Given the description of an element on the screen output the (x, y) to click on. 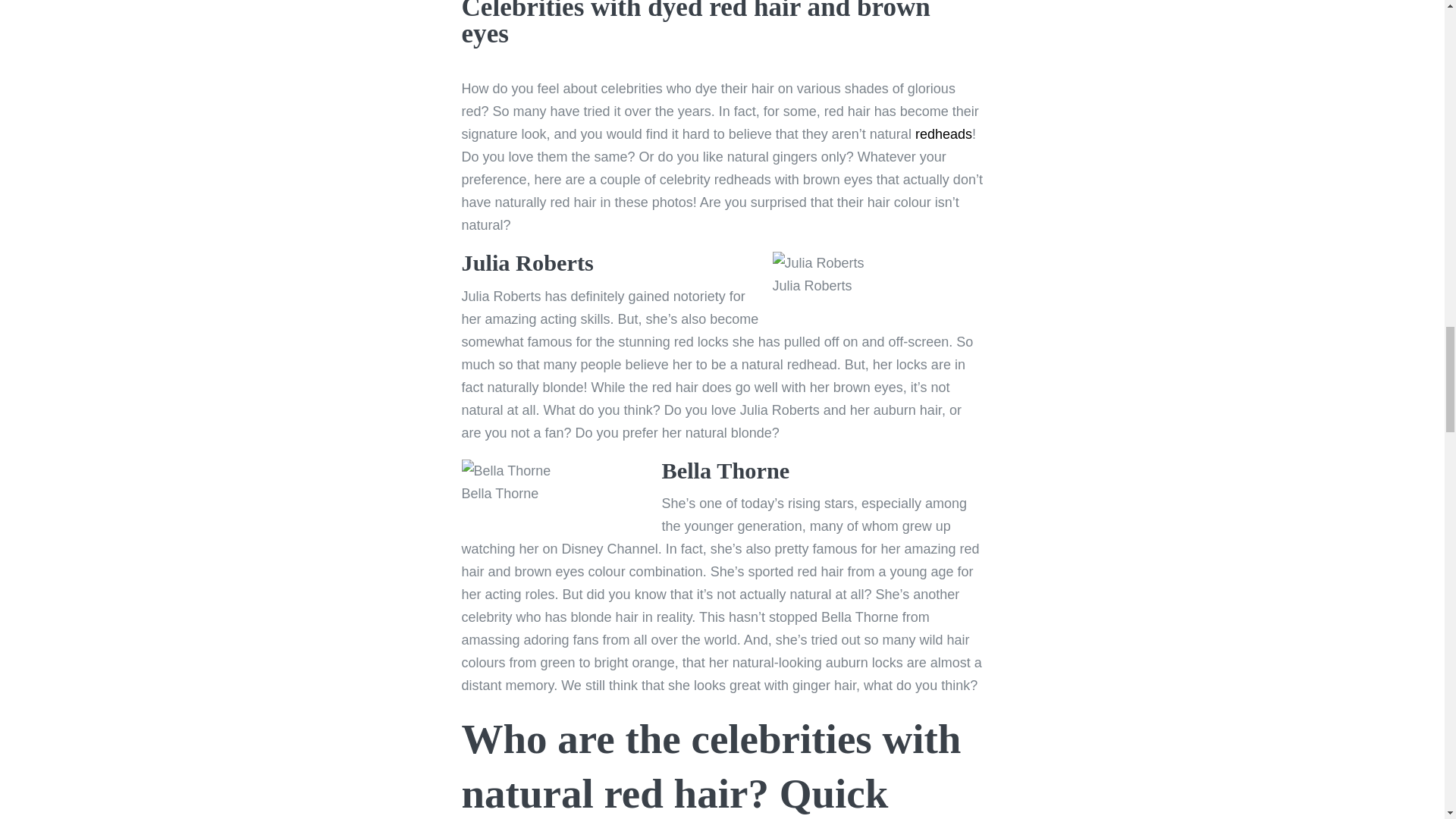
redheads (943, 133)
